Given the description of an element on the screen output the (x, y) to click on. 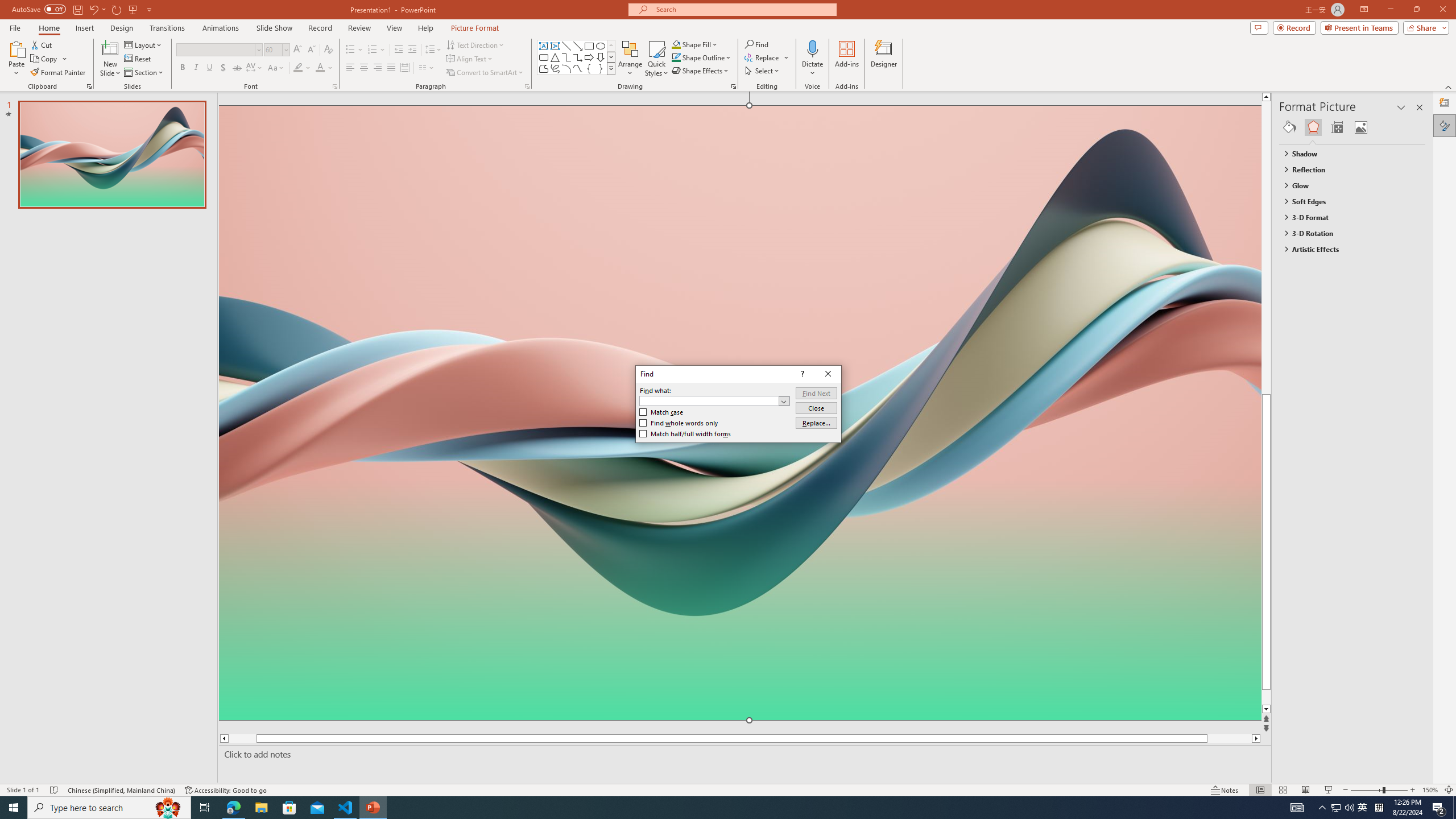
Size & Properties (1336, 126)
